Given the description of an element on the screen output the (x, y) to click on. 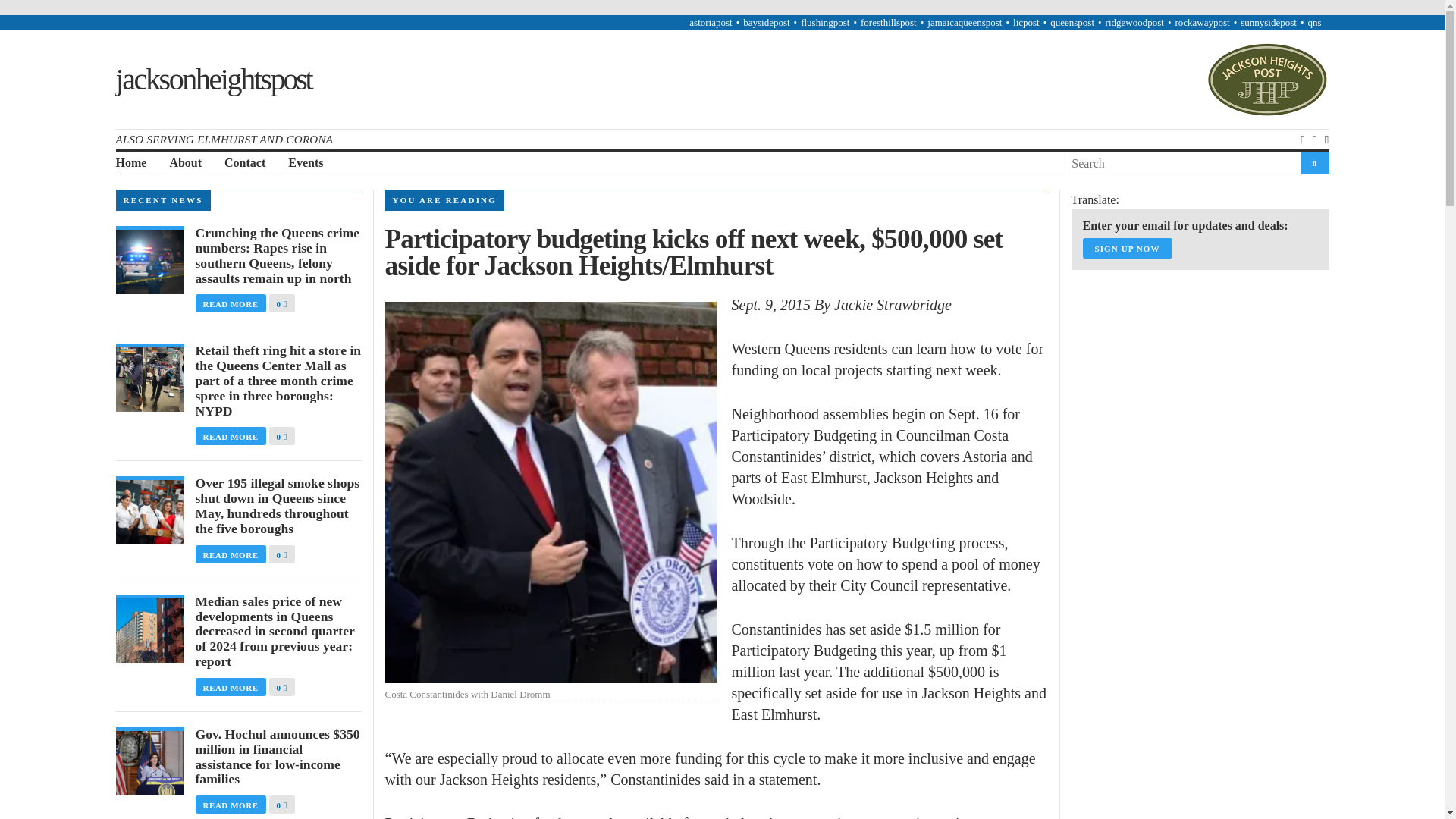
astoriapost (710, 21)
jacksonheightspost (213, 79)
ridgewoodpost (1134, 21)
flushingpost (824, 21)
About (185, 163)
queenspost (1071, 21)
licpost (1026, 21)
baysidepost (765, 21)
sunnysidepost (1268, 21)
foresthillspost (888, 21)
Events (305, 163)
qns (1313, 21)
Contact (244, 163)
Home (131, 163)
jamaicaqueenspost (964, 21)
